Given the description of an element on the screen output the (x, y) to click on. 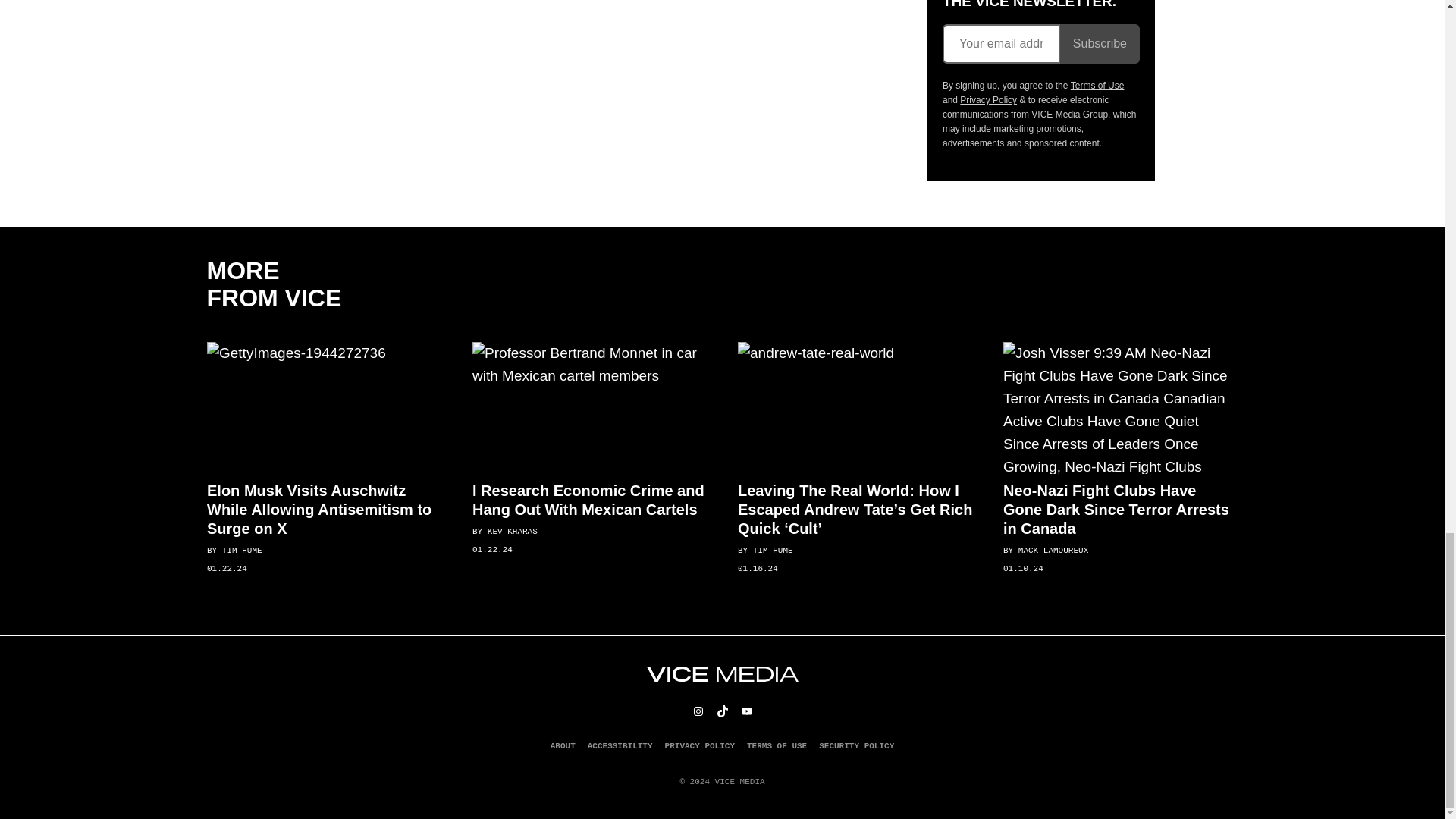
Posts by Tim Hume (772, 550)
Newsletter Signup Form (1040, 43)
Posts by Mack Lamoureux (1052, 550)
Posts by Kev Kharas (511, 531)
Posts by Tim Hume (241, 550)
